Given the description of an element on the screen output the (x, y) to click on. 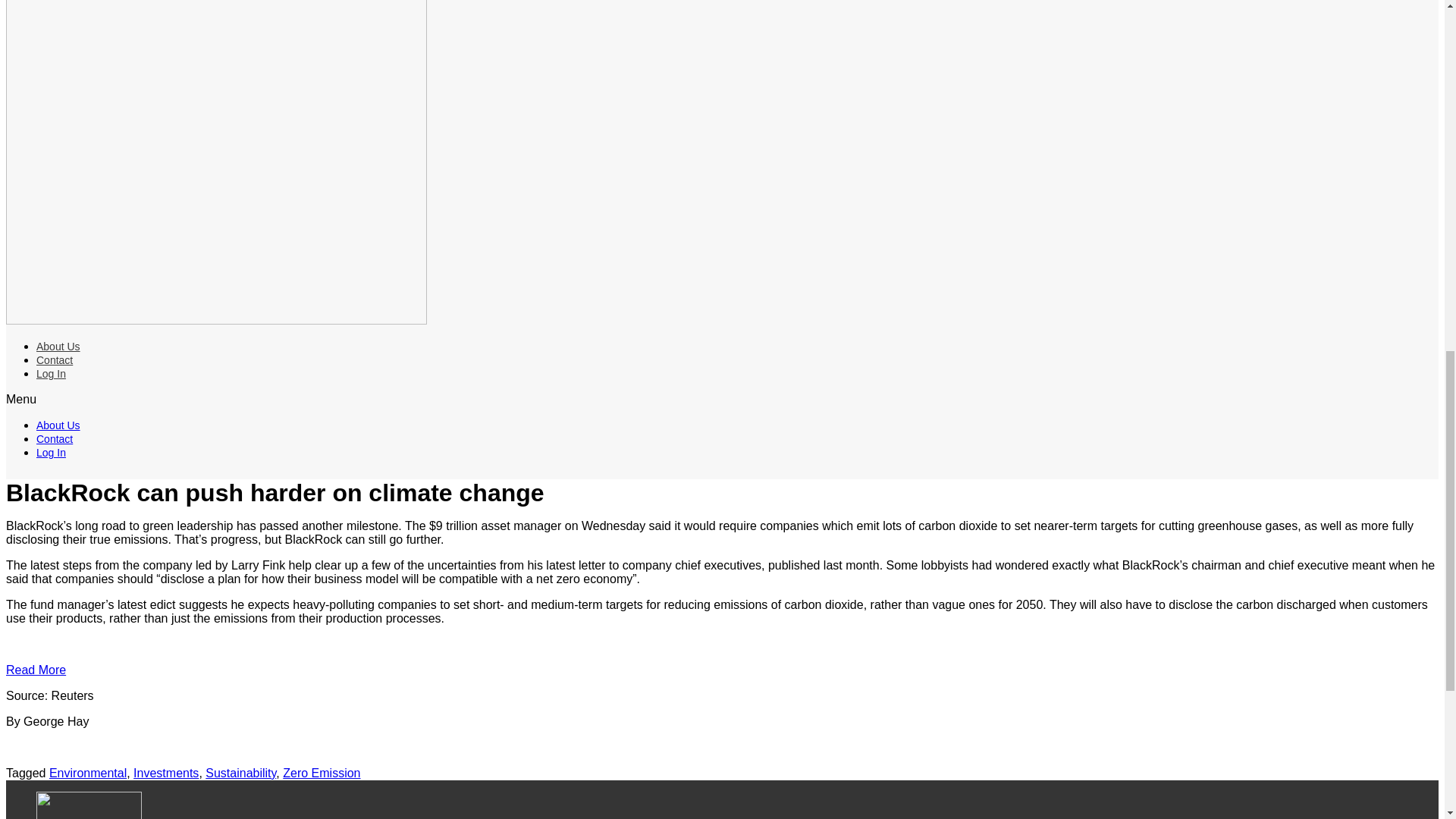
Log In (50, 452)
Contact (54, 439)
Contact (54, 359)
Log In (50, 373)
Read More (35, 669)
About Us (58, 346)
About Us (58, 425)
Environmental (87, 772)
Zero Emission (320, 772)
Sustainability (240, 772)
Investments (165, 772)
